Given the description of an element on the screen output the (x, y) to click on. 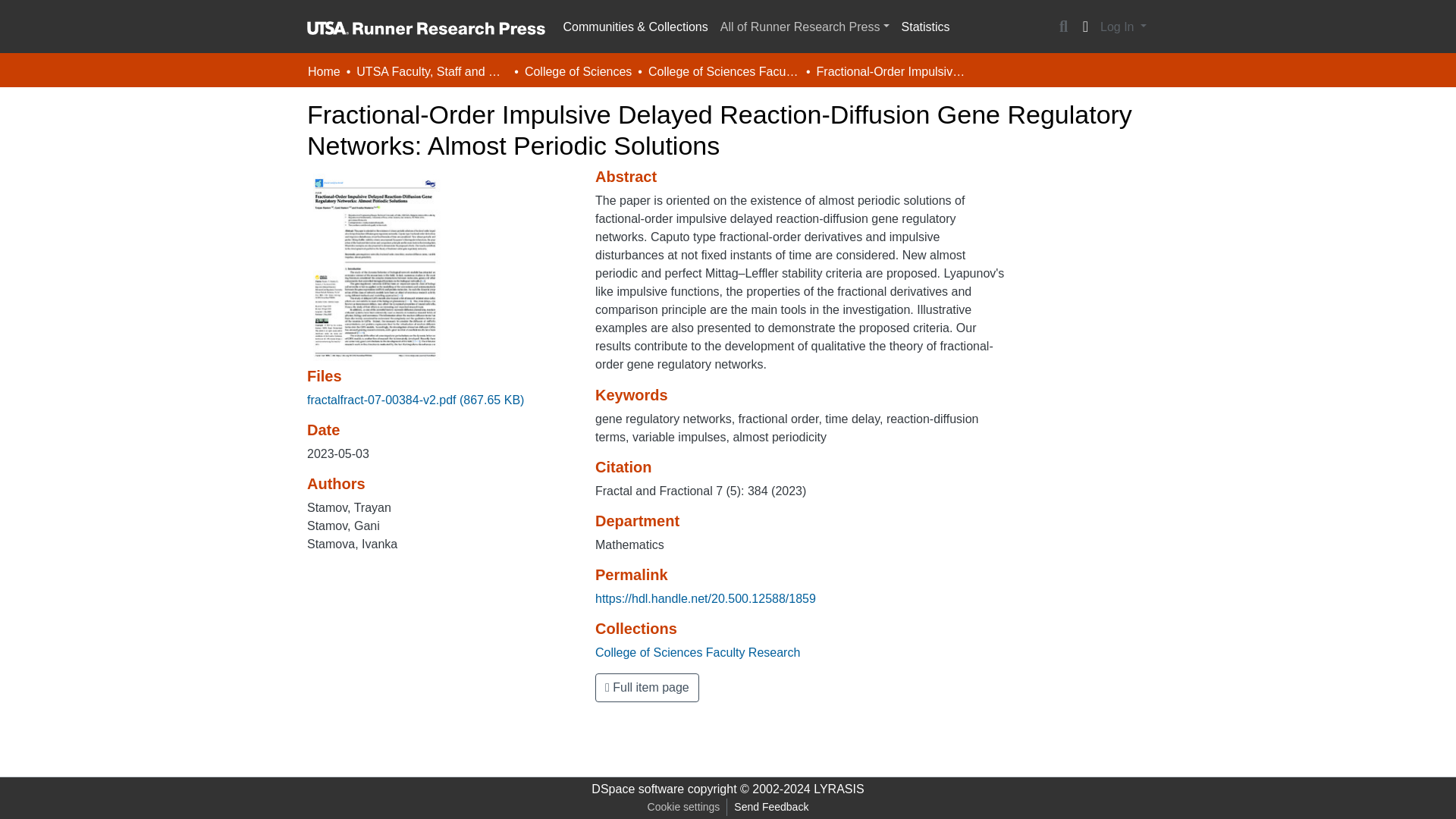
UTSA Faculty, Staff and Postdoctoral Researcher Work (432, 72)
LYRASIS (838, 788)
College of Sciences Faculty Research (723, 72)
Full item page (646, 687)
Statistics (925, 27)
Cookie settings (683, 806)
DSpace software (637, 788)
All of Runner Research Press (804, 27)
Search (1063, 27)
College of Sciences (577, 72)
Send Feedback (770, 806)
Log In (1122, 26)
College of Sciences Faculty Research (697, 652)
Language switch (1084, 27)
Home (323, 72)
